Given the description of an element on the screen output the (x, y) to click on. 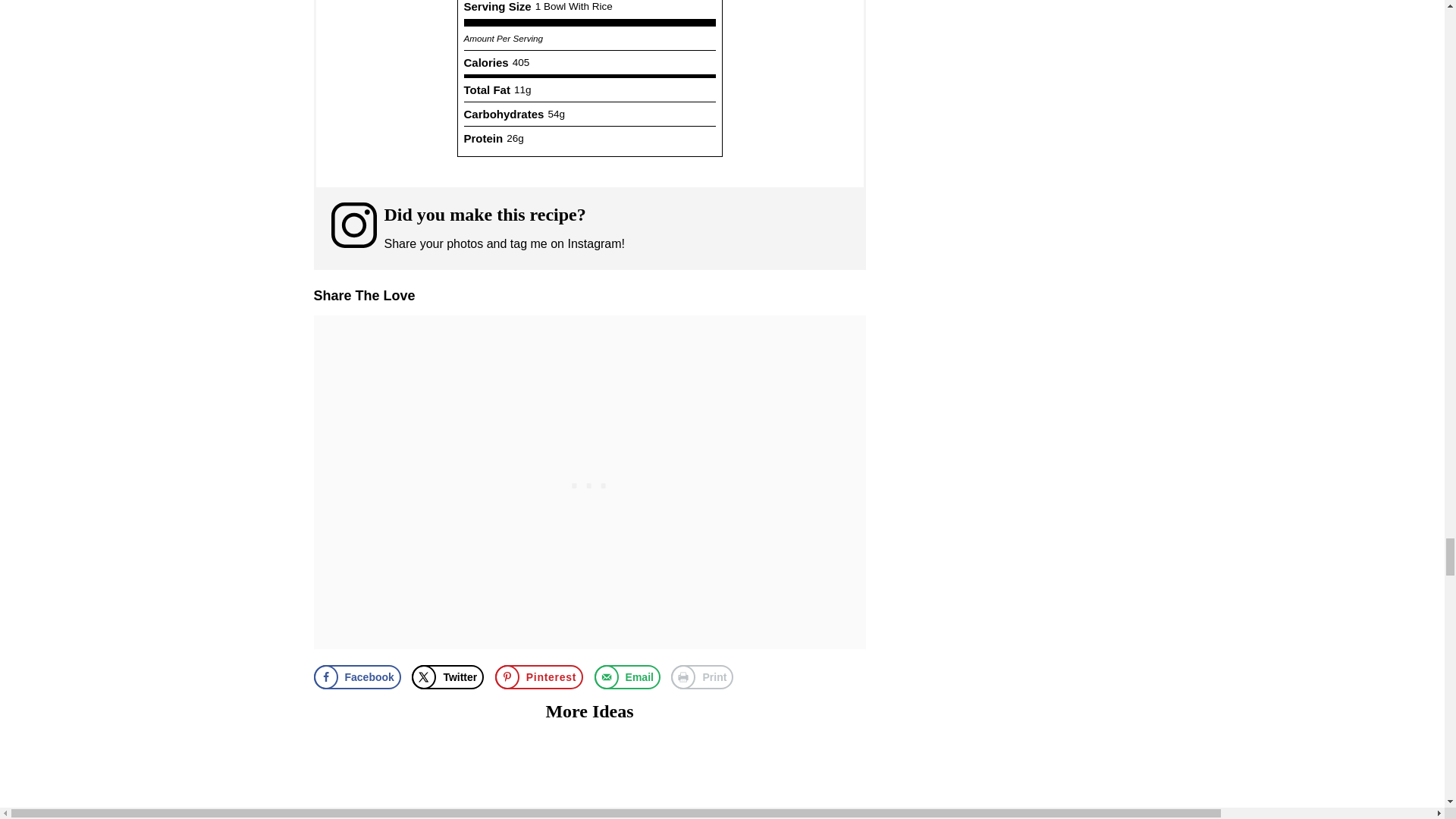
Send over email (627, 677)
Share on X (447, 677)
Print this webpage (702, 677)
Share on Facebook (357, 677)
Save to Pinterest (539, 677)
